Given the description of an element on the screen output the (x, y) to click on. 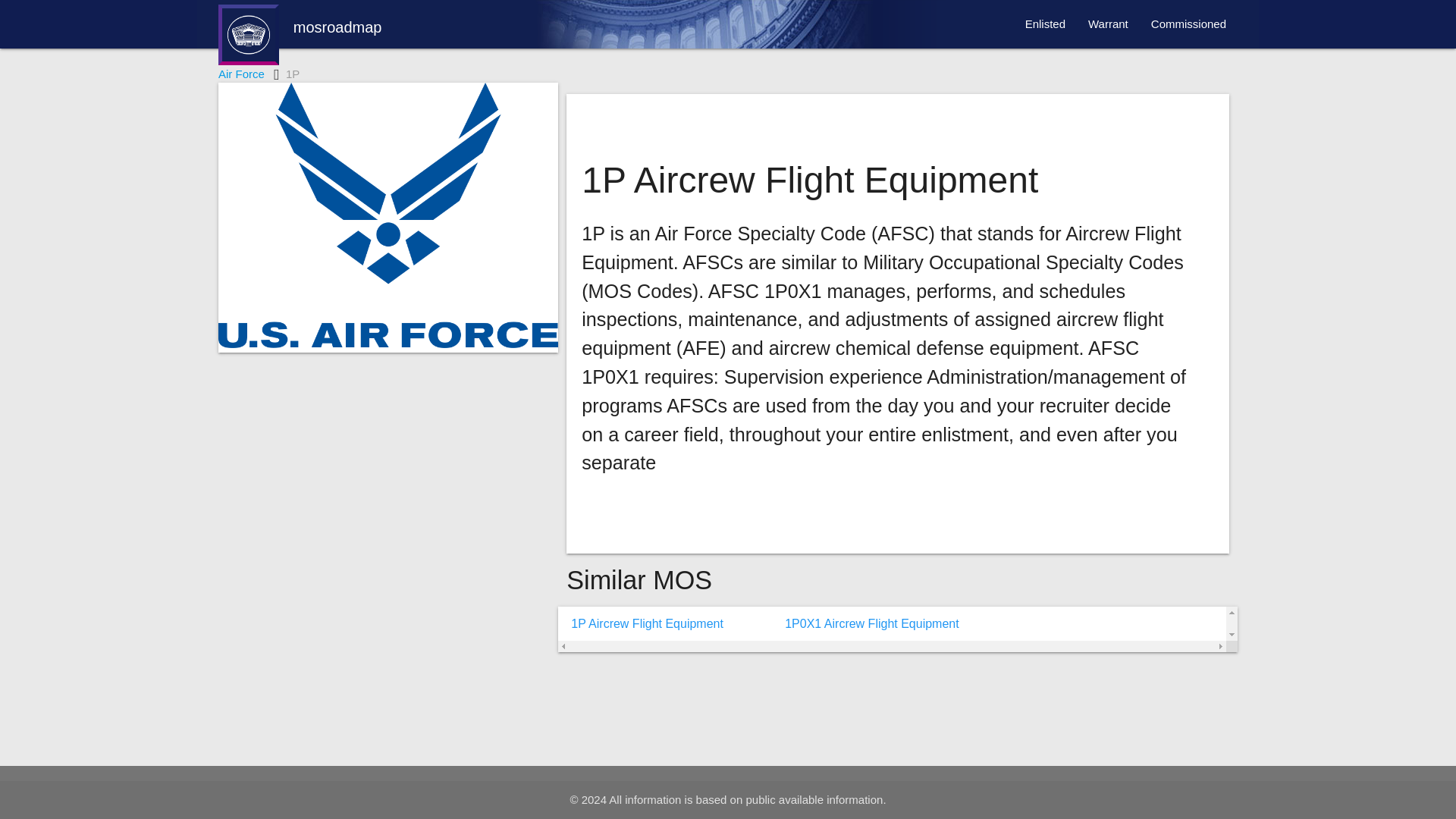
Warrant (1108, 24)
Commissioned (1188, 24)
Air Force (241, 72)
Enlisted (1045, 24)
1P0X1 Aircrew Flight Equipment (865, 624)
mosroadmap (299, 32)
1P Aircrew Flight Equipment (641, 624)
